Given the description of an element on the screen output the (x, y) to click on. 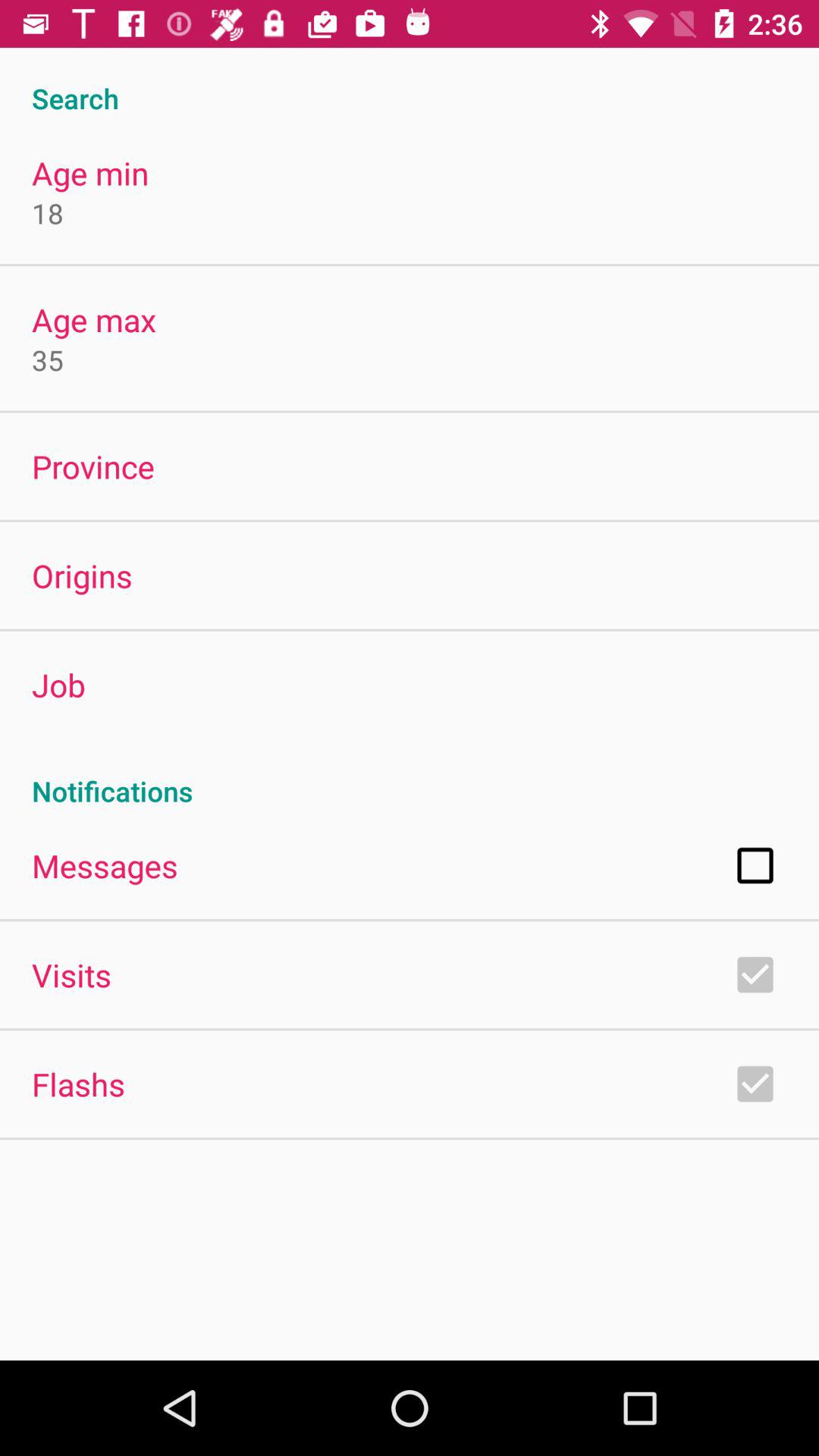
click age max app (93, 319)
